Given the description of an element on the screen output the (x, y) to click on. 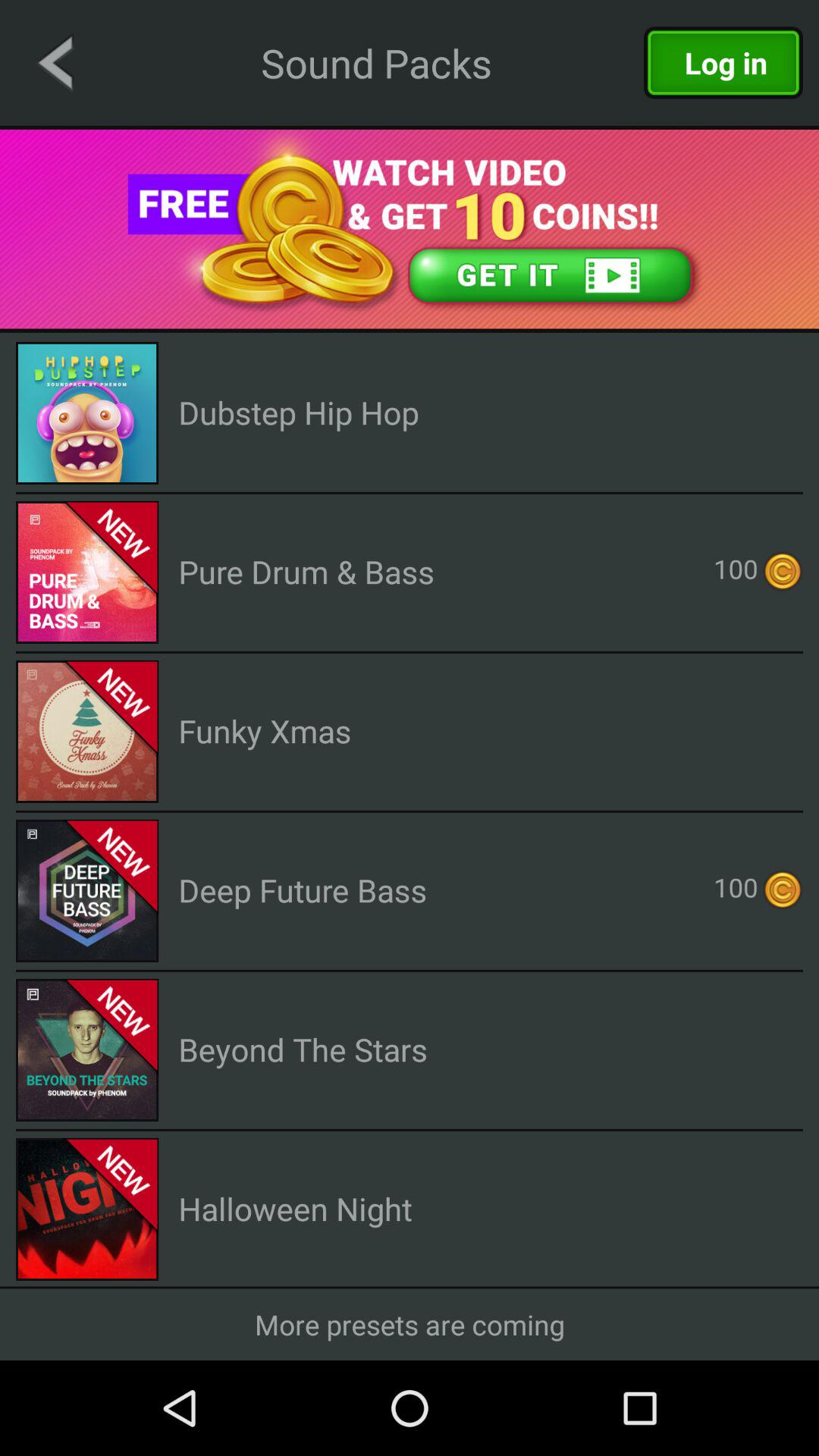
swipe until the deep future bass icon (302, 889)
